Given the description of an element on the screen output the (x, y) to click on. 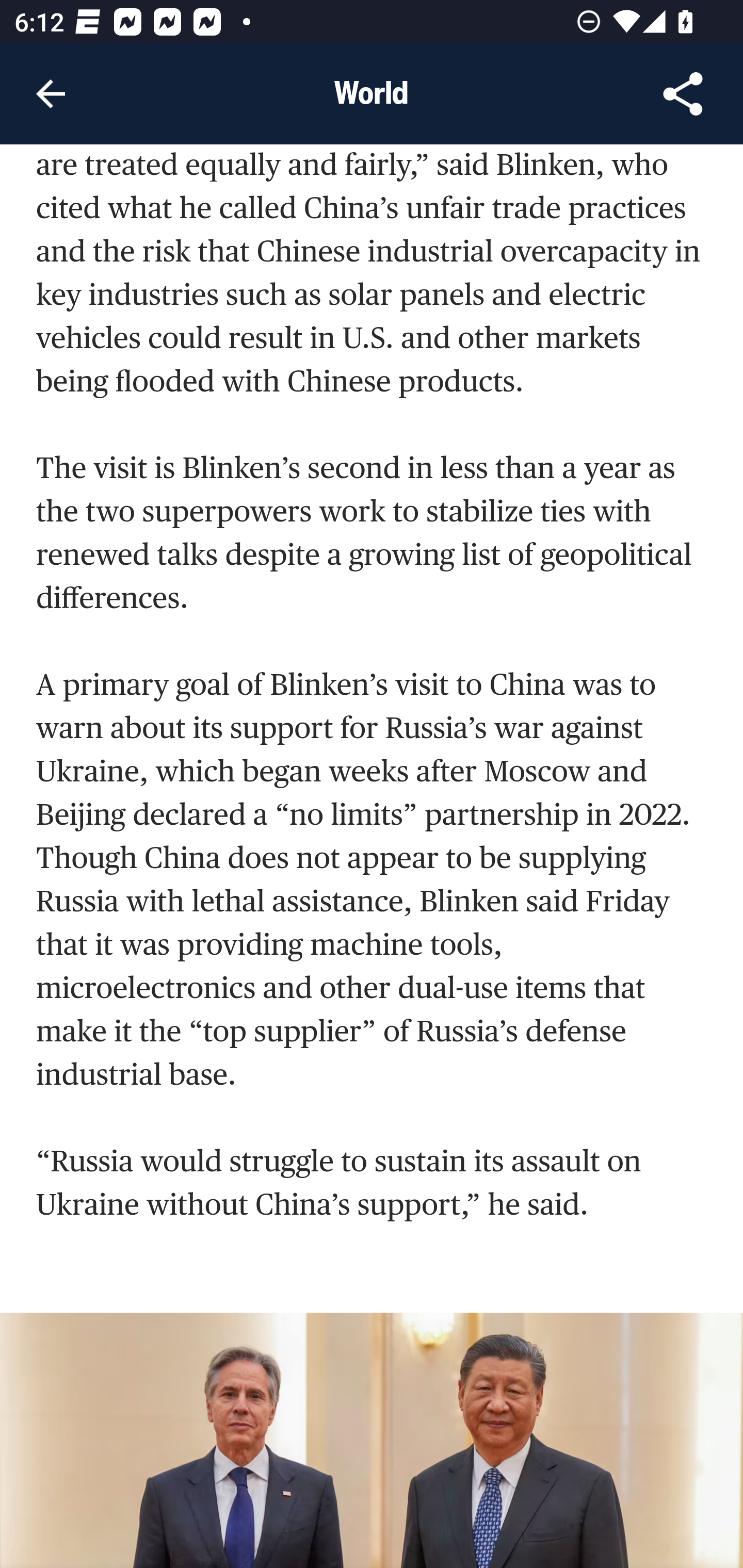
Navigate up (50, 93)
Share Article, button (683, 94)
